Given the description of an element on the screen output the (x, y) to click on. 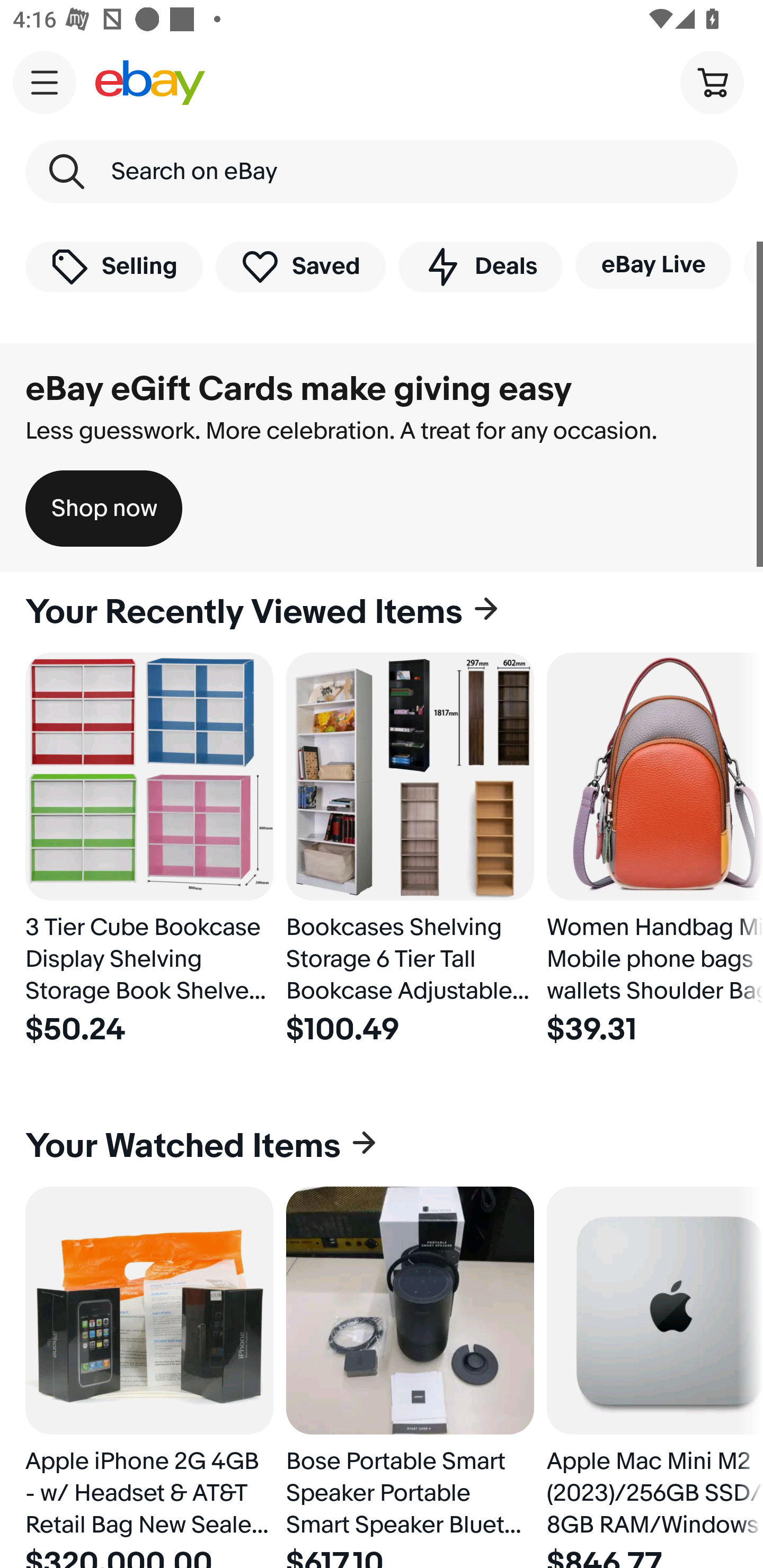
Main navigation, open (44, 82)
Cart button shopping cart (711, 81)
Search on eBay Search Keyword Search on eBay (381, 171)
Selling (113, 266)
Saved (300, 266)
Deals (480, 266)
eBay Live (652, 264)
eBay eGift Cards make giving easy (298, 389)
Shop now (103, 508)
Your Recently Viewed Items   (381, 612)
Your Watched Items   (381, 1145)
